Given the description of an element on the screen output the (x, y) to click on. 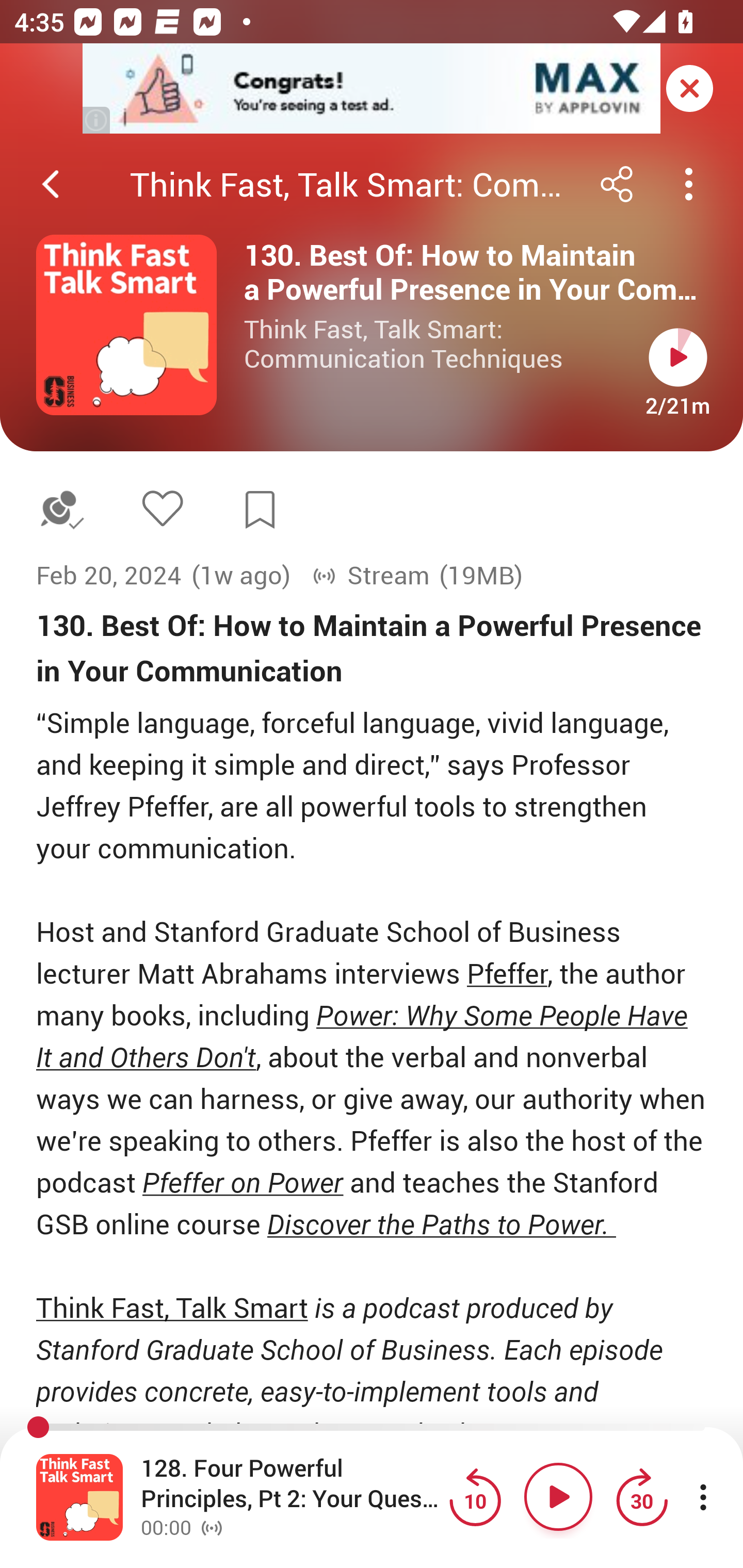
app-monetization (371, 88)
(i) (96, 119)
Back (50, 184)
Open series (126, 325)
Play button (677, 357)
Like (161, 507)
Remove episode from Play Later (60, 510)
New bookmark … (259, 510)
Stream (370, 576)
Open fullscreen player (79, 1497)
More player controls (703, 1497)
Play button (558, 1496)
Jump back (475, 1497)
Jump forward (641, 1497)
